Given the description of an element on the screen output the (x, y) to click on. 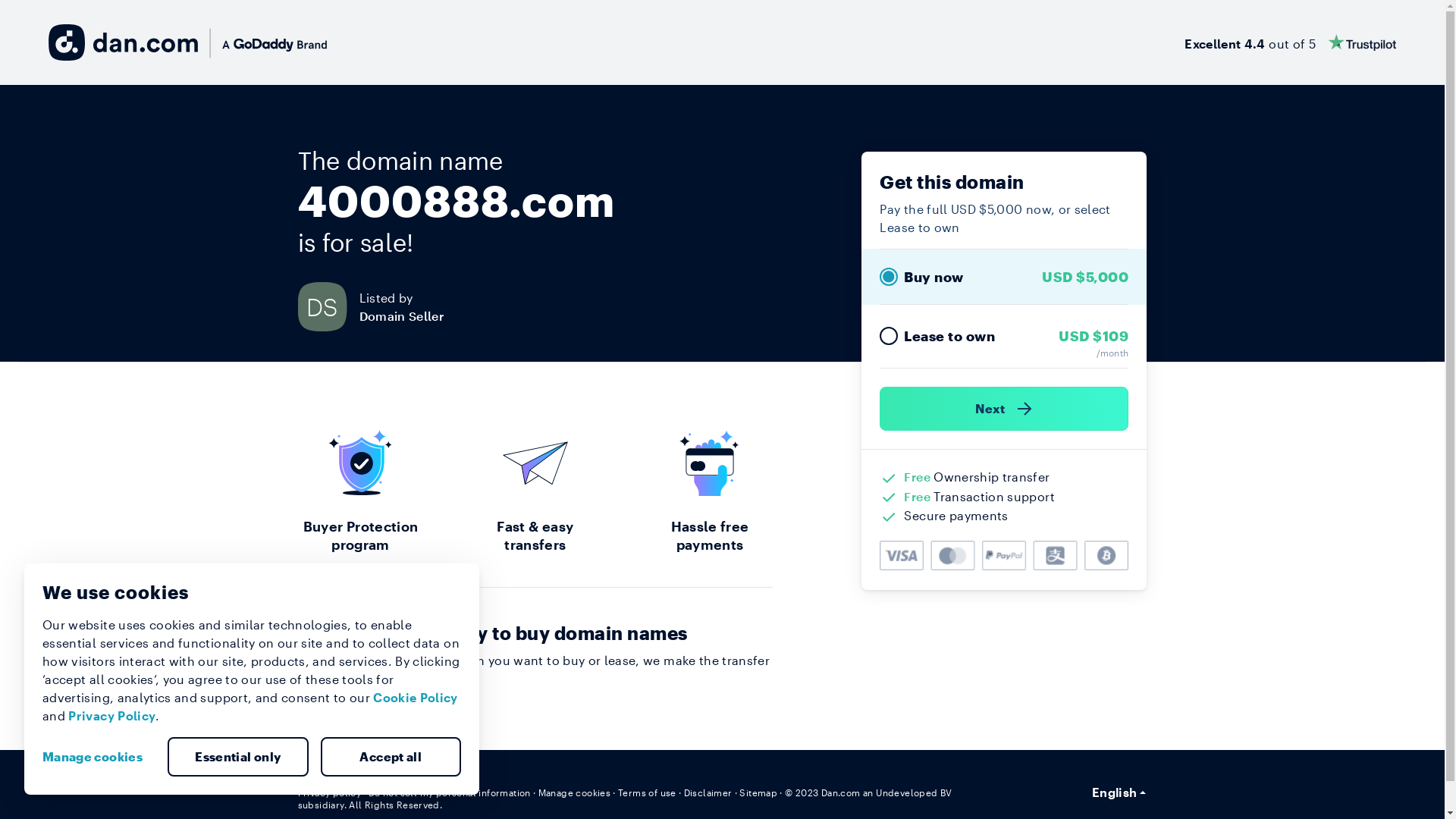
Privacy policy Element type: text (328, 792)
Privacy Policy Element type: text (111, 715)
Do not sell my personal information Element type: text (449, 792)
Terms of use Element type: text (647, 792)
Essential only Element type: text (237, 756)
Accept all Element type: text (390, 756)
Sitemap Element type: text (758, 792)
English Element type: text (1119, 792)
Excellent 4.4 out of 5 Element type: text (1290, 42)
Cookie Policy Element type: text (415, 697)
Disclaimer Element type: text (708, 792)
Next
) Element type: text (1003, 408)
Manage cookies Element type: text (574, 792)
Manage cookies Element type: text (98, 756)
